Given the description of an element on the screen output the (x, y) to click on. 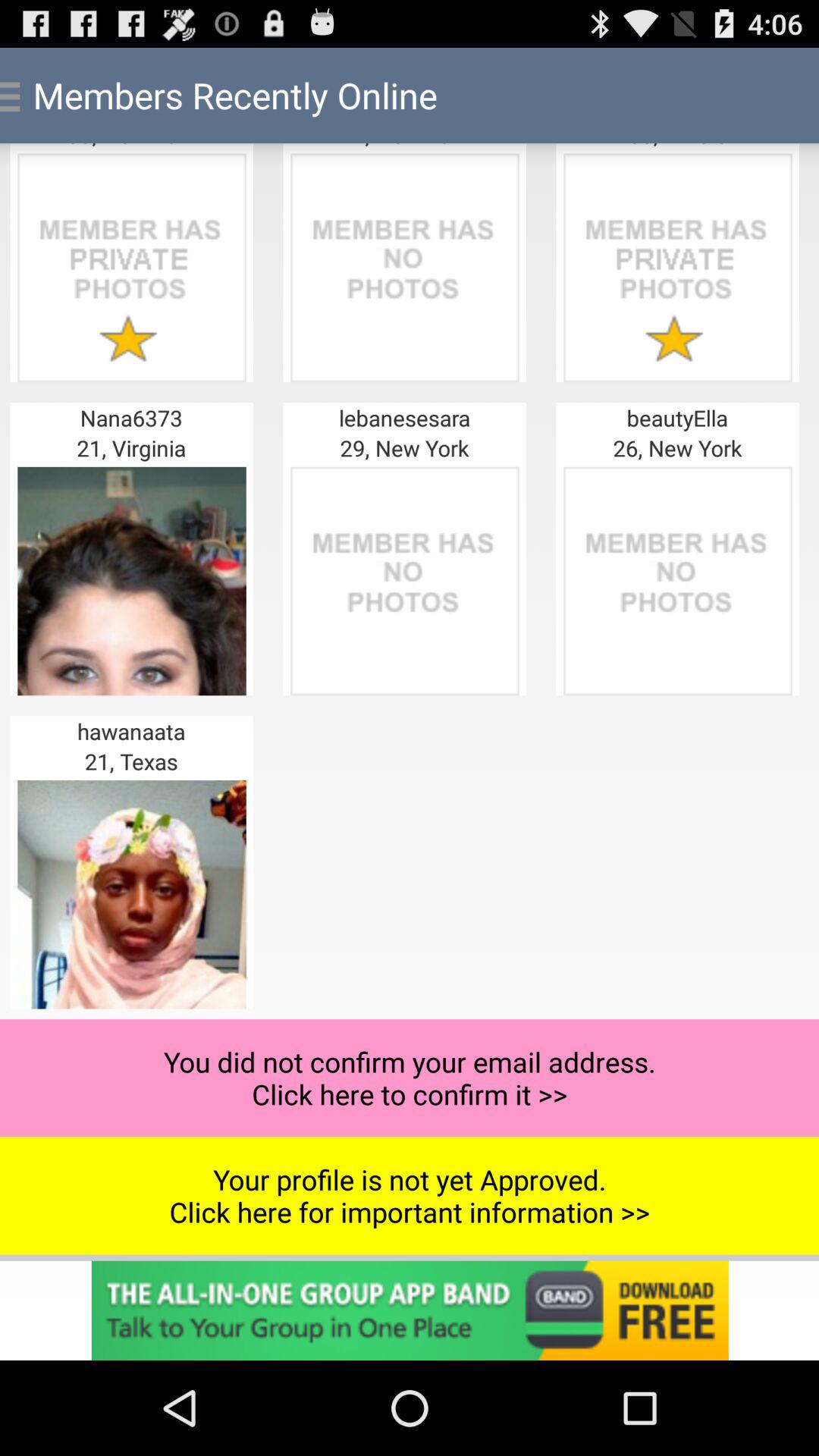
select the field which says member has no photos (404, 581)
